Given the description of an element on the screen output the (x, y) to click on. 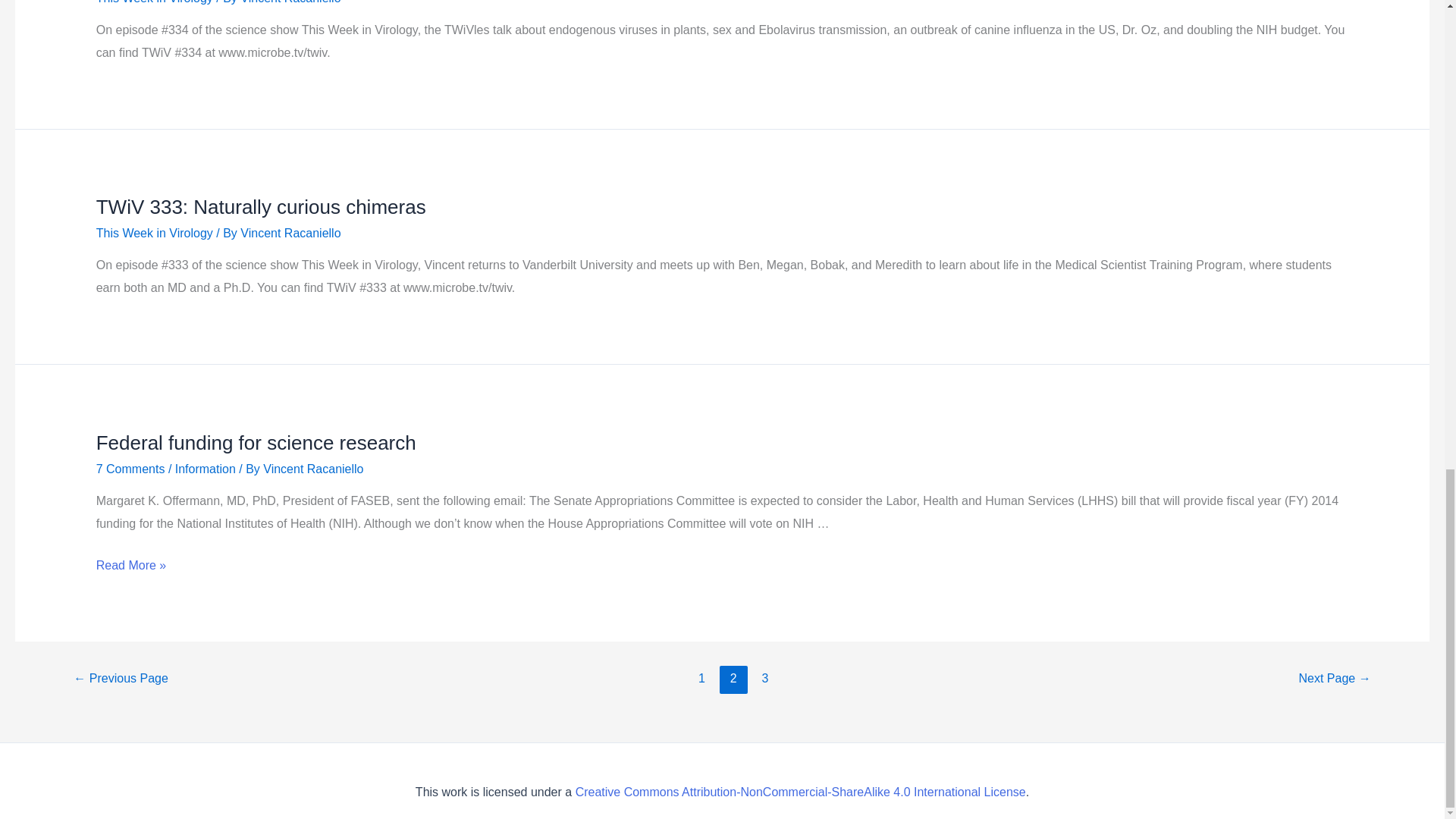
View all posts by Vincent Racaniello (290, 2)
View all posts by Vincent Racaniello (312, 468)
View all posts by Vincent Racaniello (290, 232)
